Given the description of an element on the screen output the (x, y) to click on. 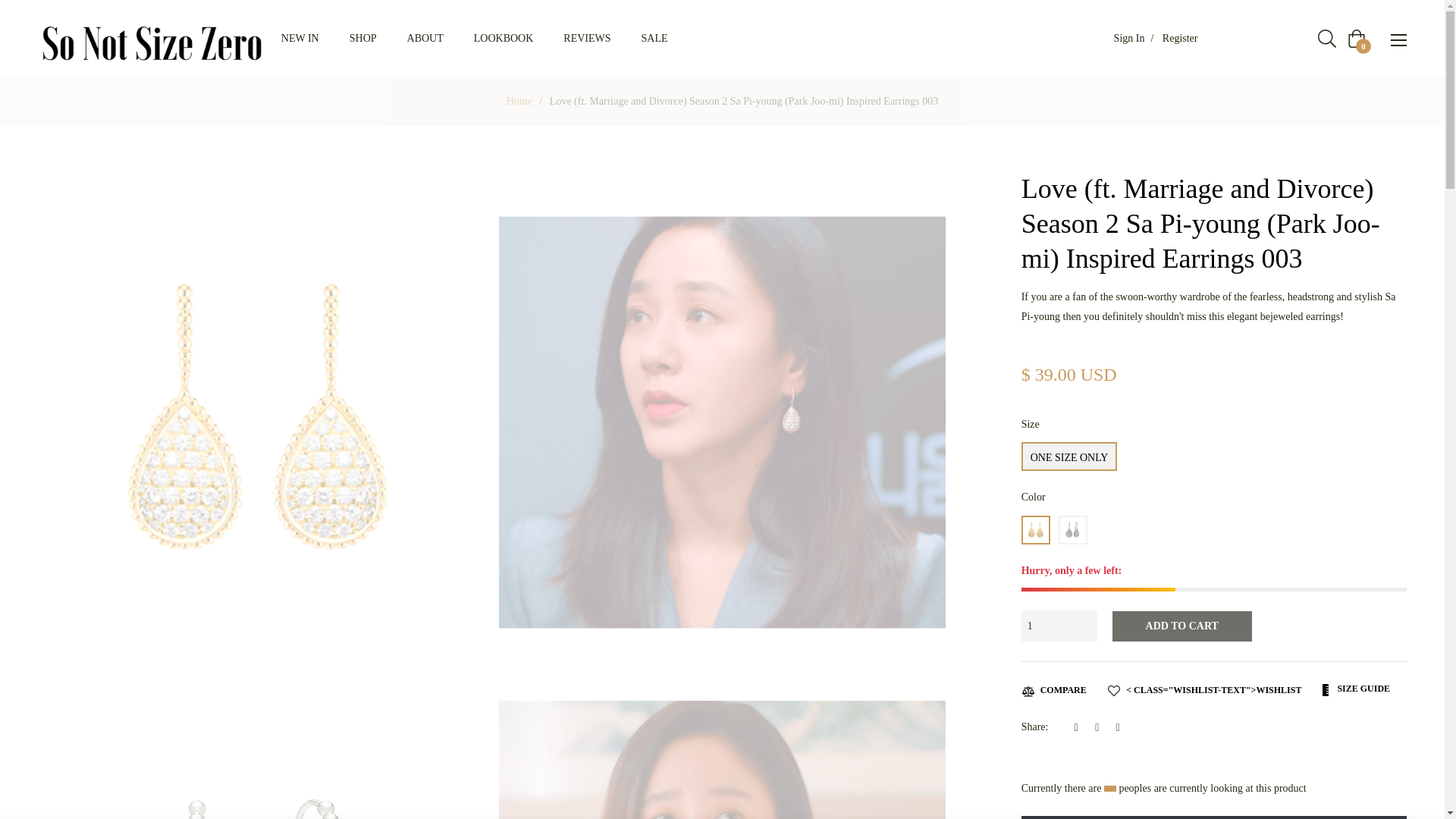
Wishlist (1204, 689)
Tweet on Twitter (1101, 726)
Share on Facebook (1080, 726)
Shopping Cart (1356, 38)
1 (1059, 625)
Pin on Pinterest (1121, 726)
NEW IN (300, 38)
